Given the description of an element on the screen output the (x, y) to click on. 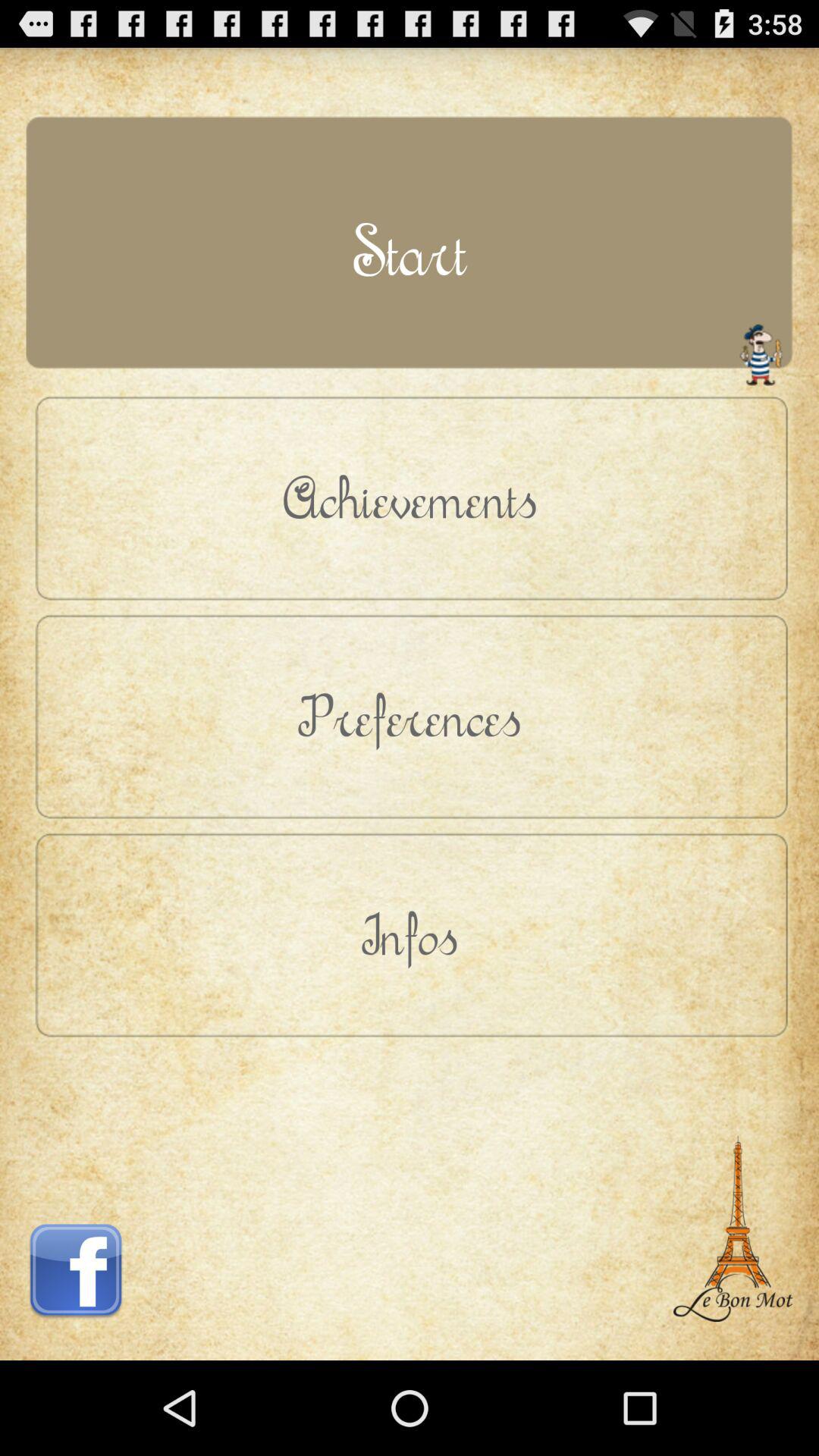
tap button below the preferences button (409, 934)
